Given the description of an element on the screen output the (x, y) to click on. 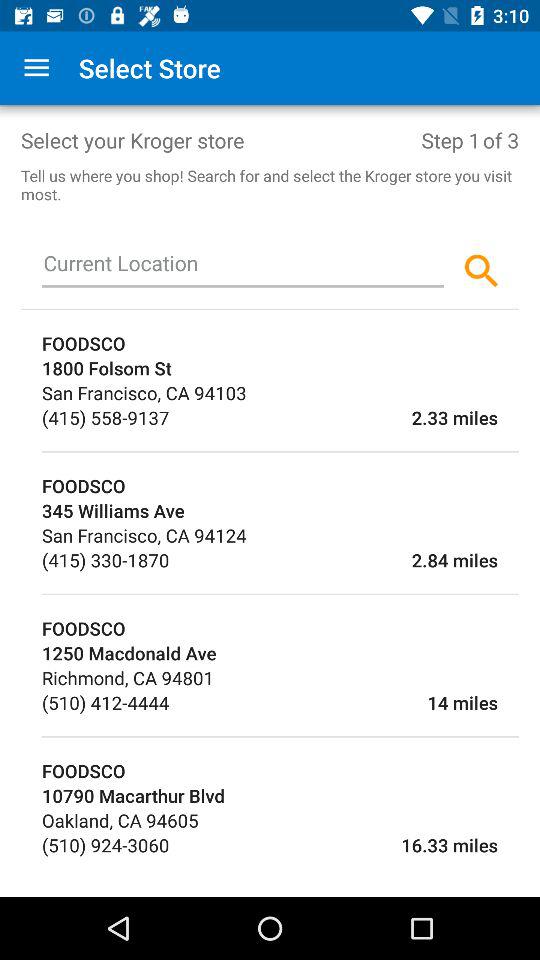
tap app next to the select store (36, 68)
